Given the description of an element on the screen output the (x, y) to click on. 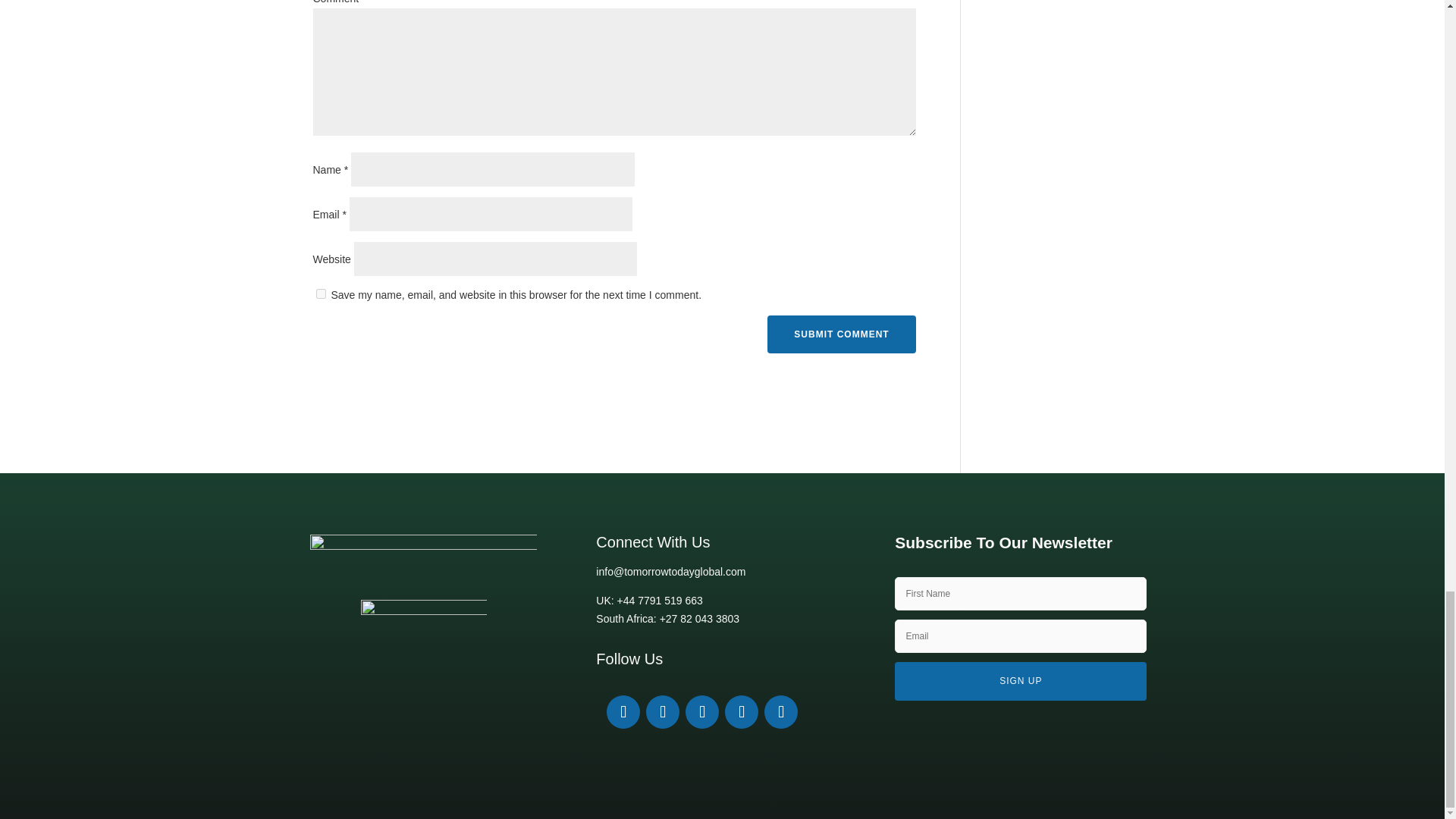
yes (319, 293)
Follow on Facebook (662, 711)
Follow on Twitter (780, 711)
Logotype-footer (423, 557)
Follow on LinkedIn (623, 711)
Follow on Instagram (741, 711)
Submit Comment (841, 333)
Submit Comment (841, 333)
Follow on Youtube (702, 711)
